Given the description of an element on the screen output the (x, y) to click on. 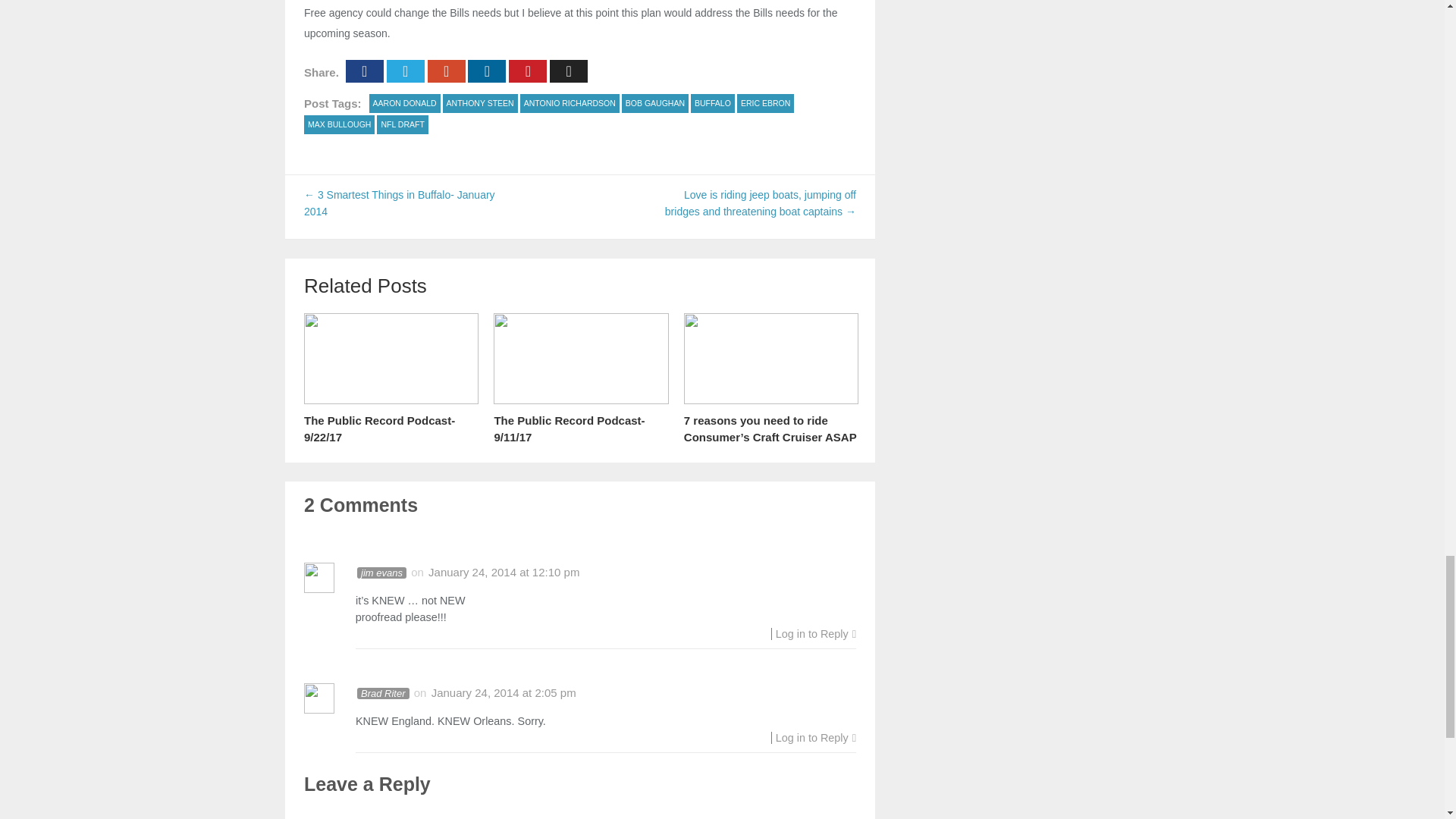
ANTONIO RICHARDSON (569, 103)
Share on Facebook (365, 69)
NFL DRAFT (402, 124)
Pinterest (527, 69)
January 24, 2014 at 12:10 pm (503, 571)
Share on LinkedIn (486, 69)
Share via Email (569, 69)
Email (569, 69)
Facebook (365, 69)
AARON DONALD (405, 103)
